Given the description of an element on the screen output the (x, y) to click on. 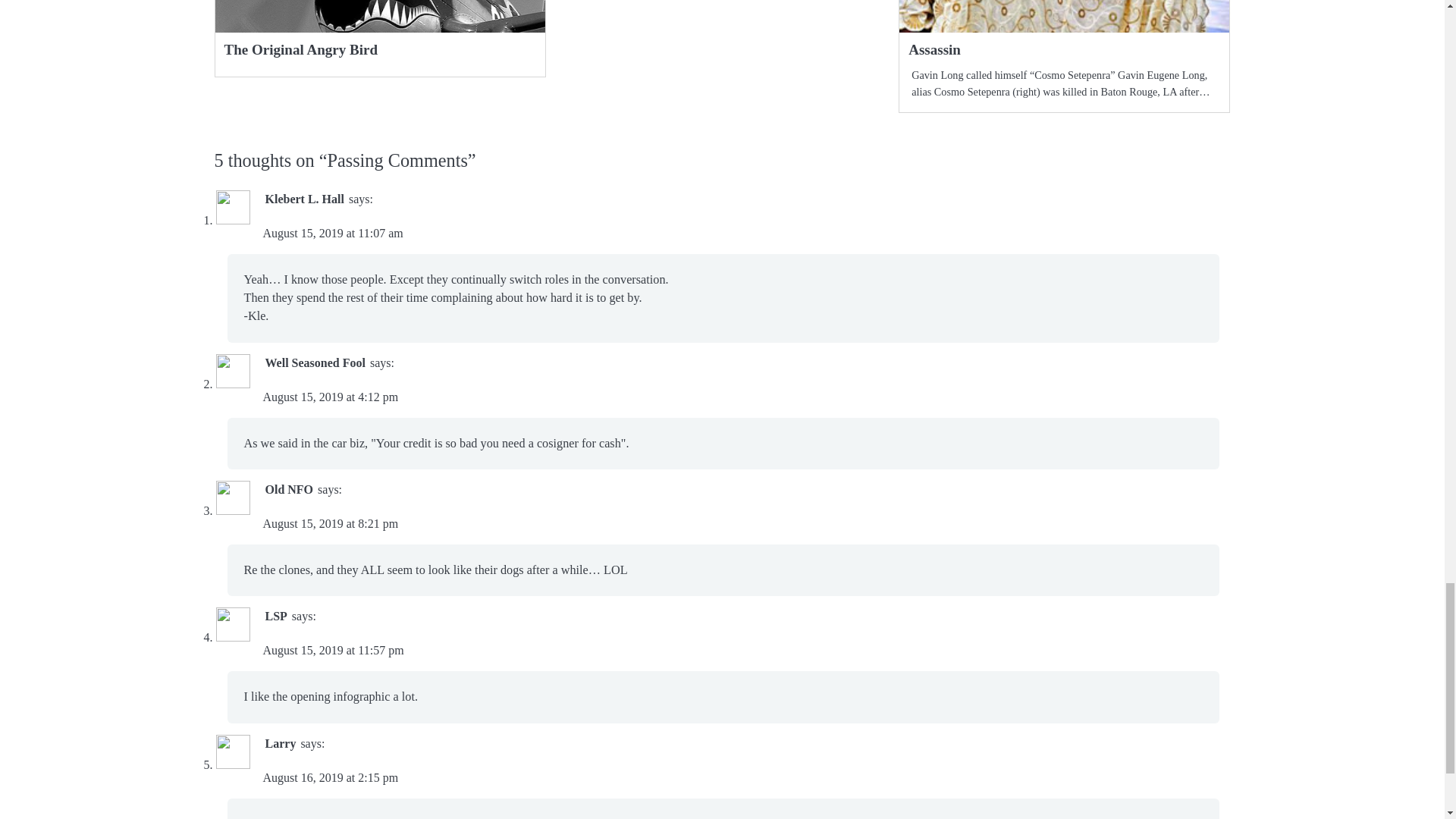
Assassin (934, 49)
August 15, 2019 at 4:12 pm (329, 396)
The Original Angry Bird (301, 49)
August 15, 2019 at 11:07 am (332, 232)
August 15, 2019 at 11:57 pm (332, 649)
August 16, 2019 at 2:15 pm (329, 777)
August 15, 2019 at 8:21 pm (329, 522)
